Given the description of an element on the screen output the (x, y) to click on. 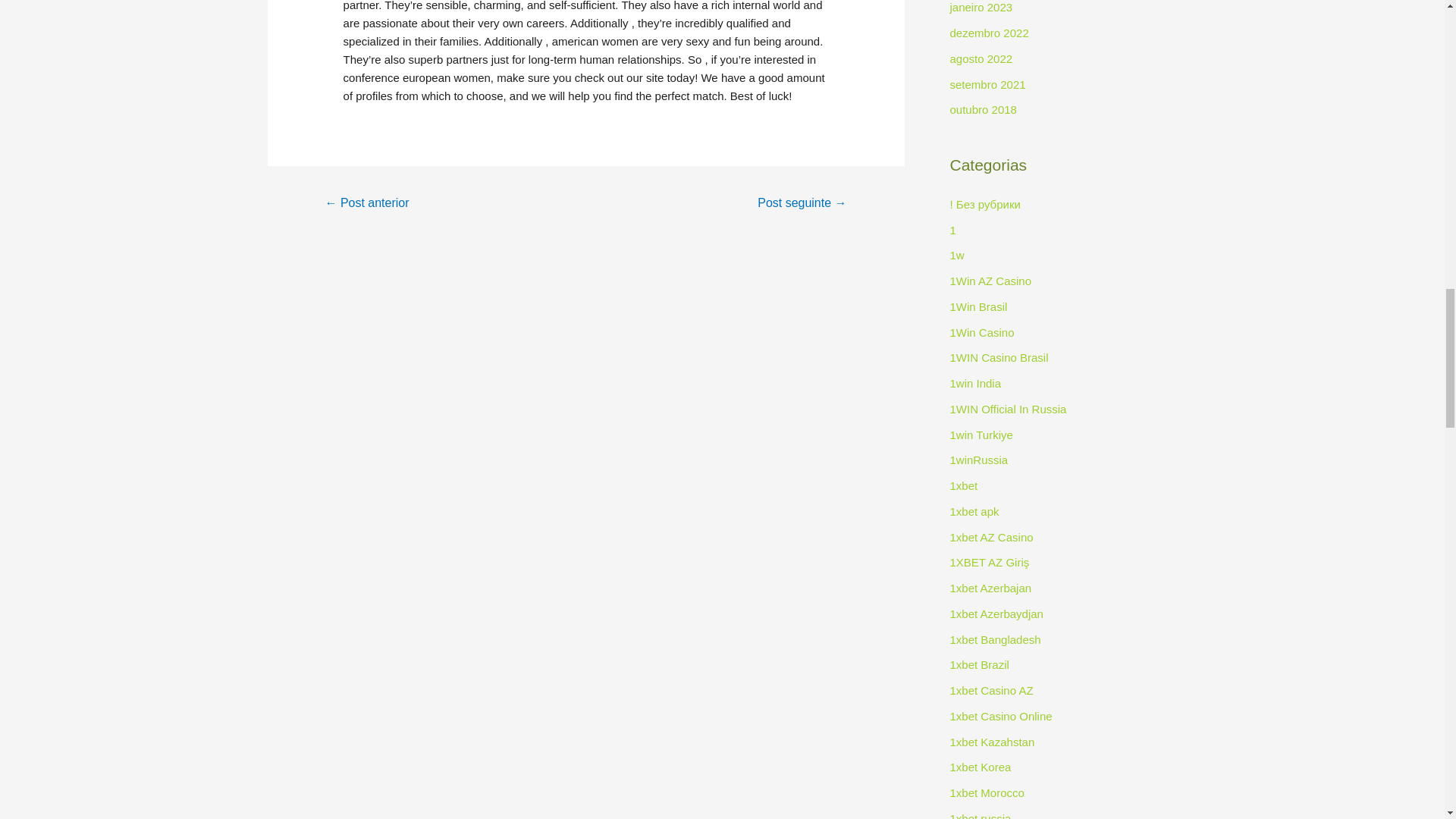
Getting married to a Russian Lady (365, 204)
Precisely what is the Cheapest Online dating service? (801, 204)
